Given the description of an element on the screen output the (x, y) to click on. 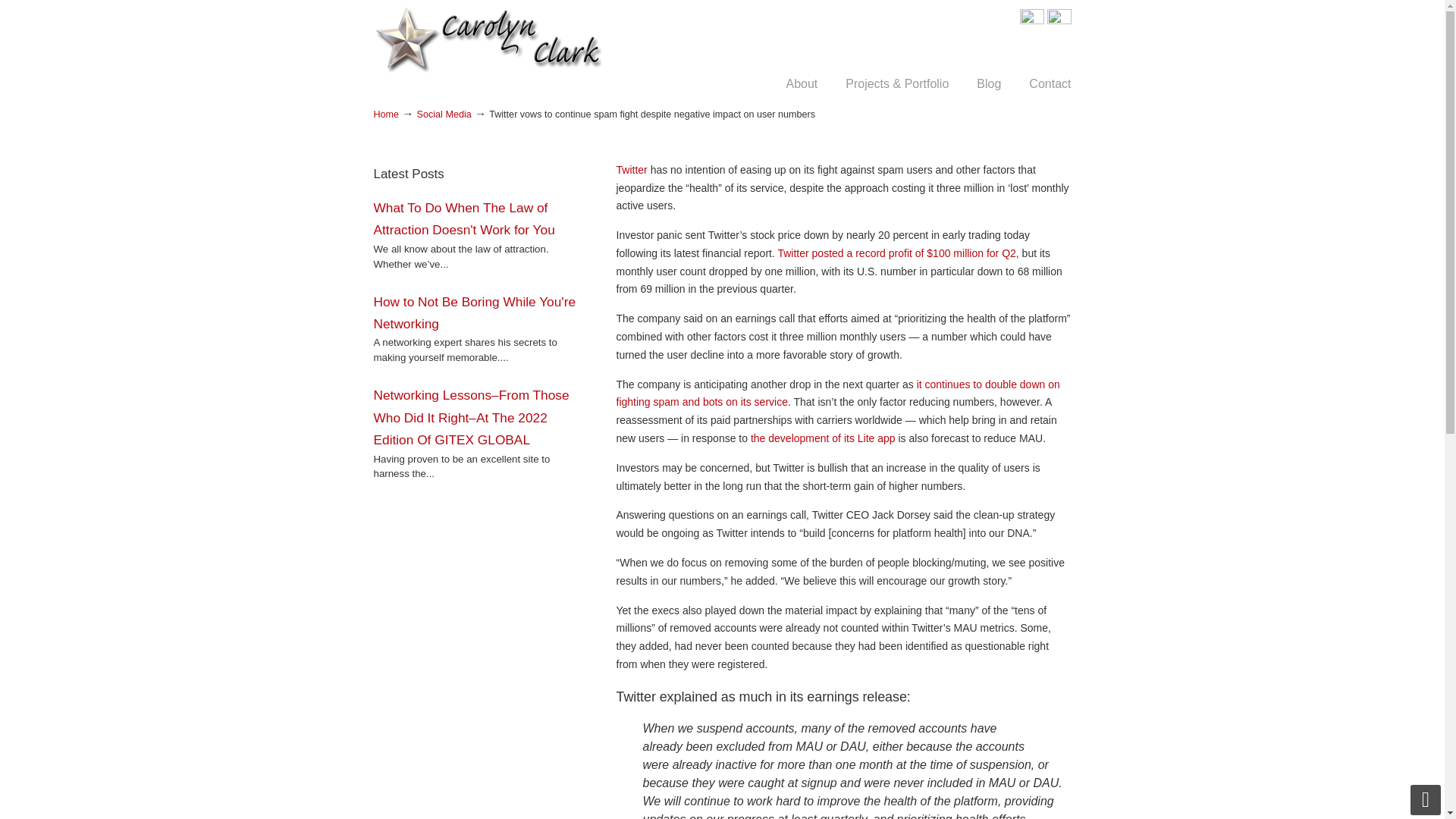
Contact (1049, 83)
the development of its Lite app (823, 438)
What To Do When The Law of Attraction Doesn't Work for You (463, 218)
Blog (988, 83)
What To Do When The Law of Attraction Doesn't Work for You (463, 218)
Twitter (632, 169)
How to Not Be Boring While You're Networking (473, 312)
How to Not Be Boring While You're Networking (473, 312)
Home (385, 113)
Social Media (443, 113)
About (801, 83)
